Given the description of an element on the screen output the (x, y) to click on. 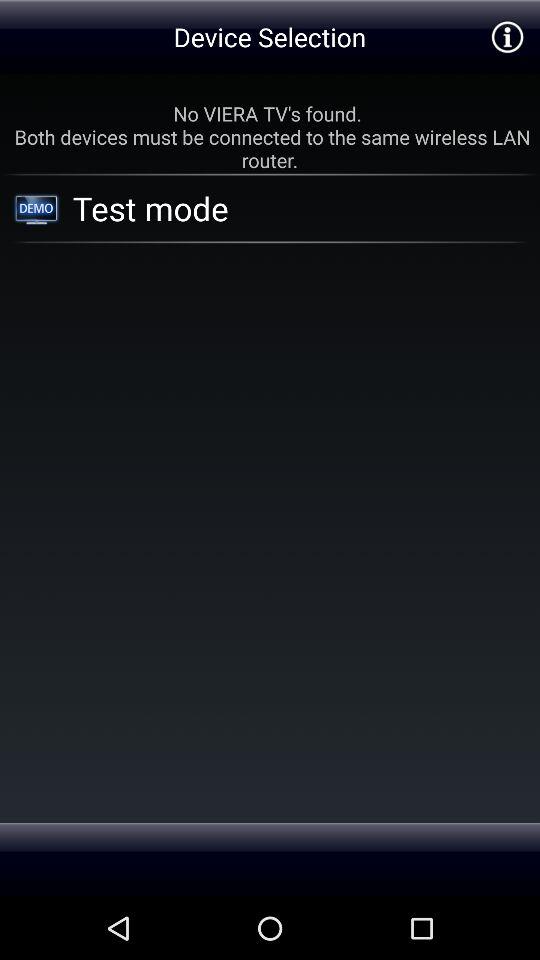
choose the icon to the right of the device selection icon (506, 36)
